Given the description of an element on the screen output the (x, y) to click on. 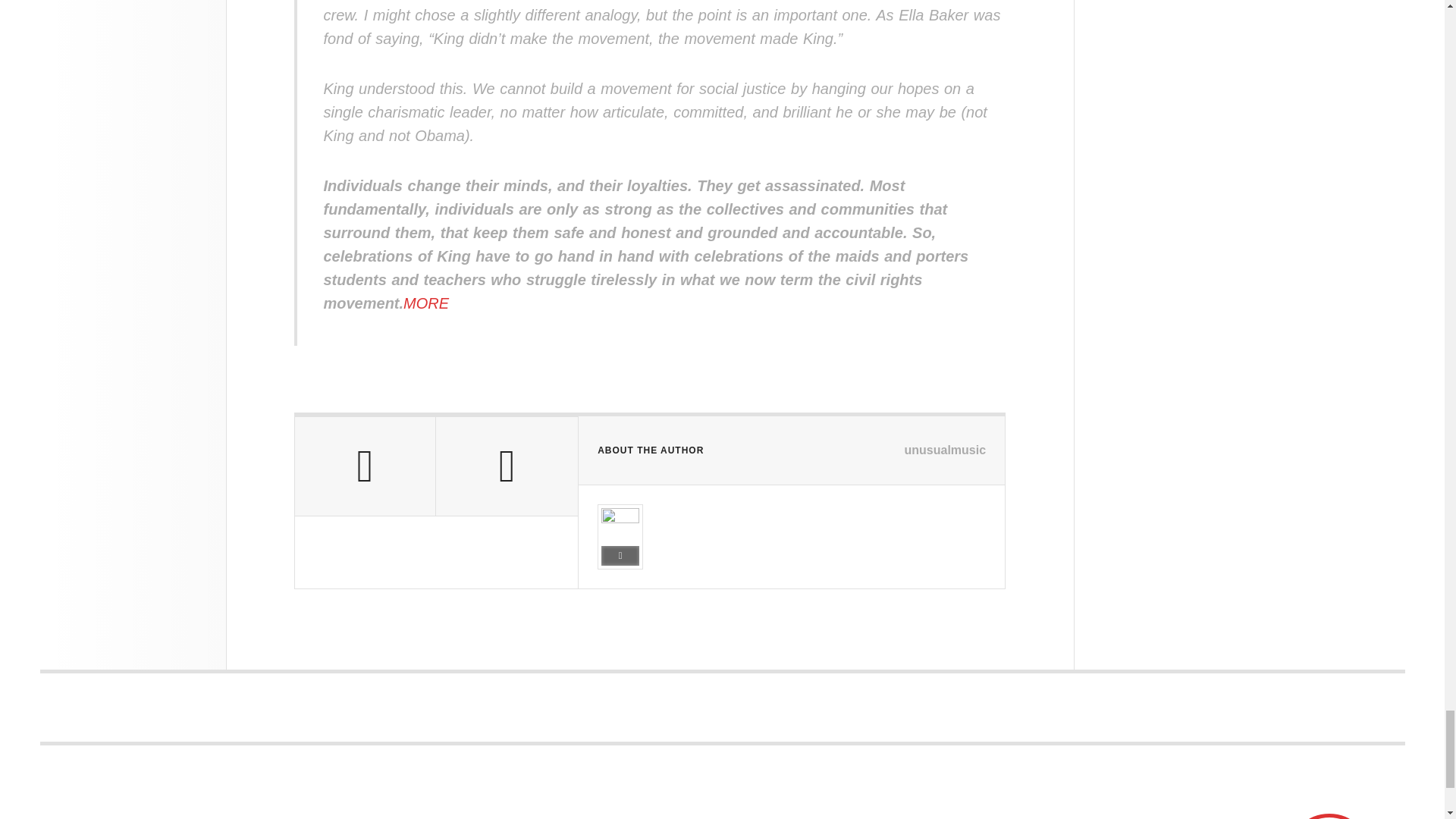
Previous Post (364, 465)
Author's Link (620, 555)
Next Post (506, 465)
The Angry Black Woman (173, 816)
